Given the description of an element on the screen output the (x, y) to click on. 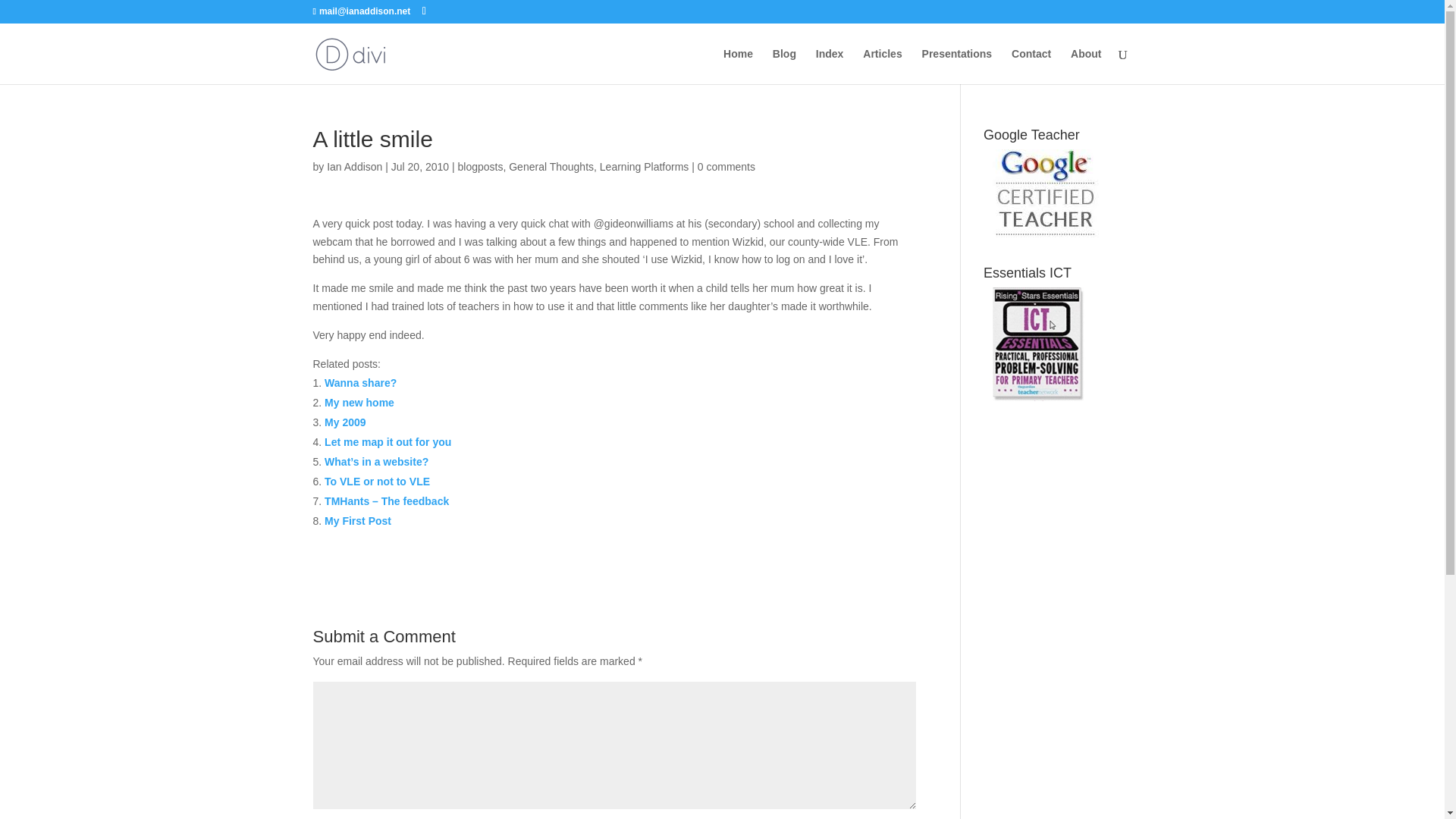
My 2009 (344, 422)
Presentations (956, 66)
0 comments (726, 166)
My 2009 (344, 422)
Learning Platforms (643, 166)
General Thoughts (551, 166)
Posts by Ian Addison (353, 166)
Let me map it out for you (387, 441)
Wanna share? (360, 382)
To VLE or not to VLE (376, 481)
